Given the description of an element on the screen output the (x, y) to click on. 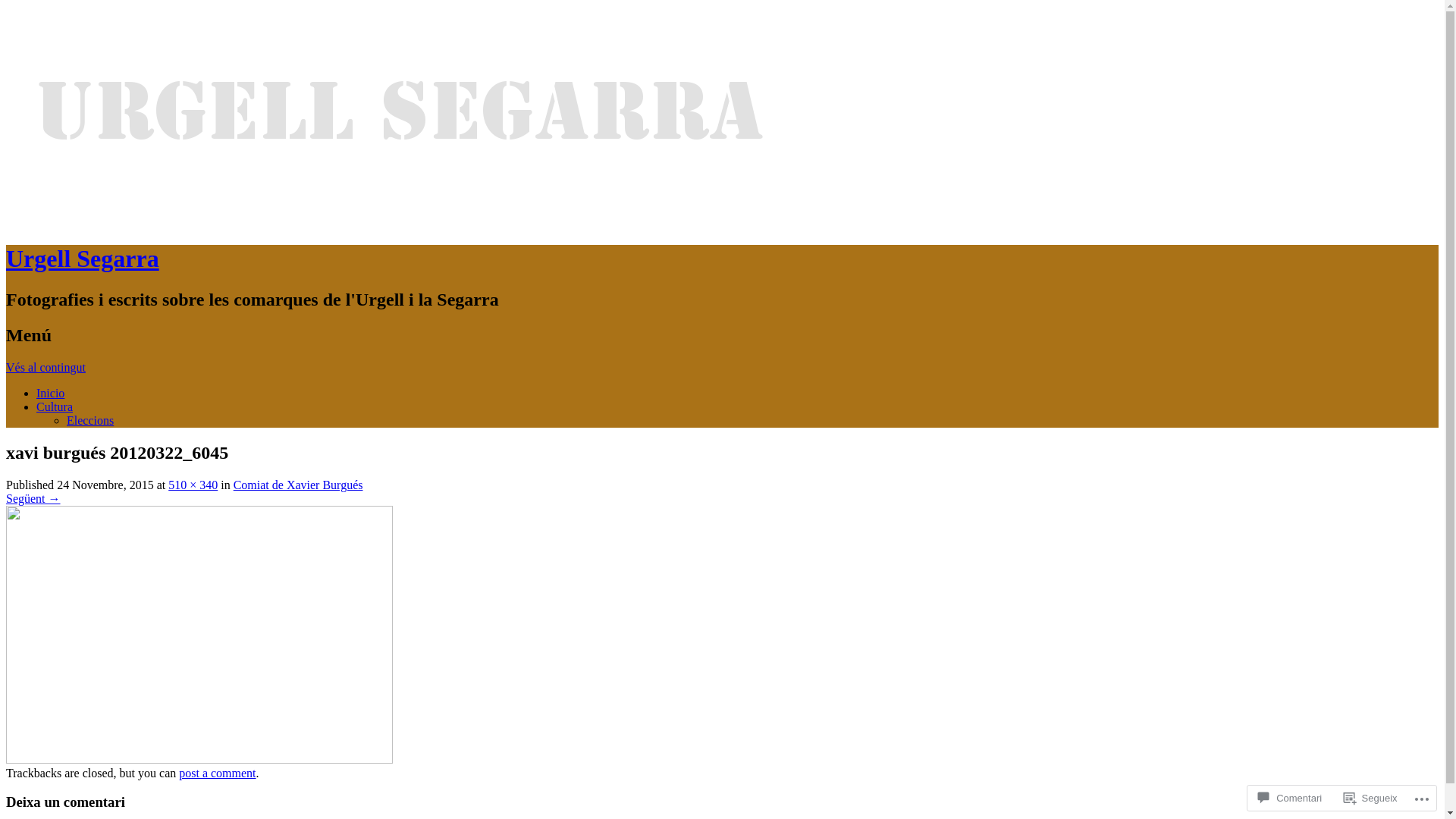
Urgell Segarra Element type: text (82, 258)
post a comment Element type: text (216, 771)
Eleccions Element type: text (89, 420)
Inicio Element type: text (50, 392)
Urgell Segarra Element type: hover (400, 221)
Comentari Element type: text (1289, 797)
Segueix Element type: text (1370, 797)
Cultura Element type: text (54, 406)
